Given the description of an element on the screen output the (x, y) to click on. 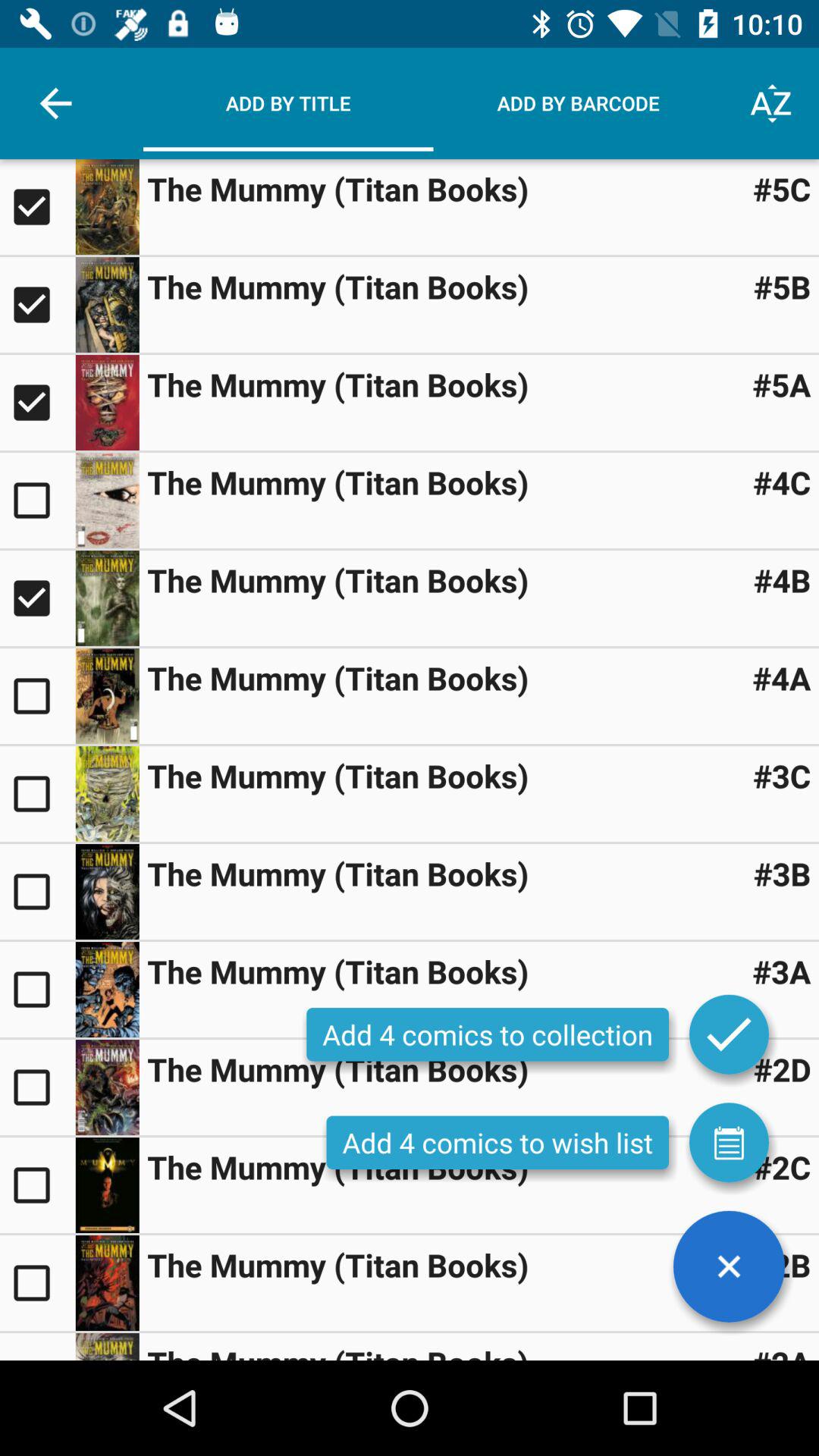
choose the icon next to the mummy titan item (782, 286)
